Given the description of an element on the screen output the (x, y) to click on. 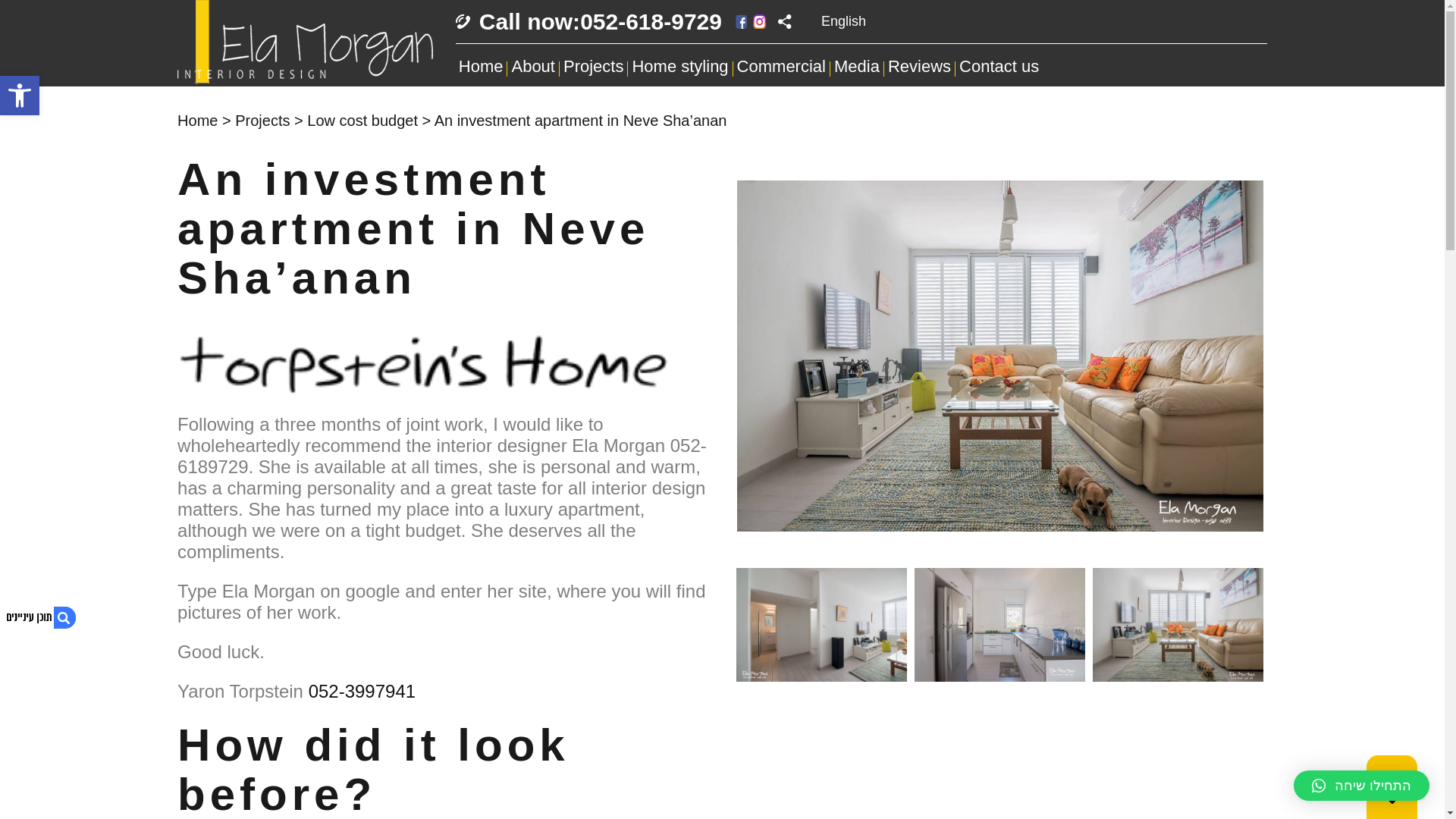
Projects (261, 120)
Home styling (679, 66)
Send (769, 499)
Low cost budget (362, 120)
Projects (593, 66)
Home (480, 66)
Contact us (999, 66)
About (532, 66)
Reviews (919, 66)
052-3997941 (361, 690)
English (843, 20)
Home (196, 120)
Media (856, 66)
Accessibility Tools (588, 21)
